Given the description of an element on the screen output the (x, y) to click on. 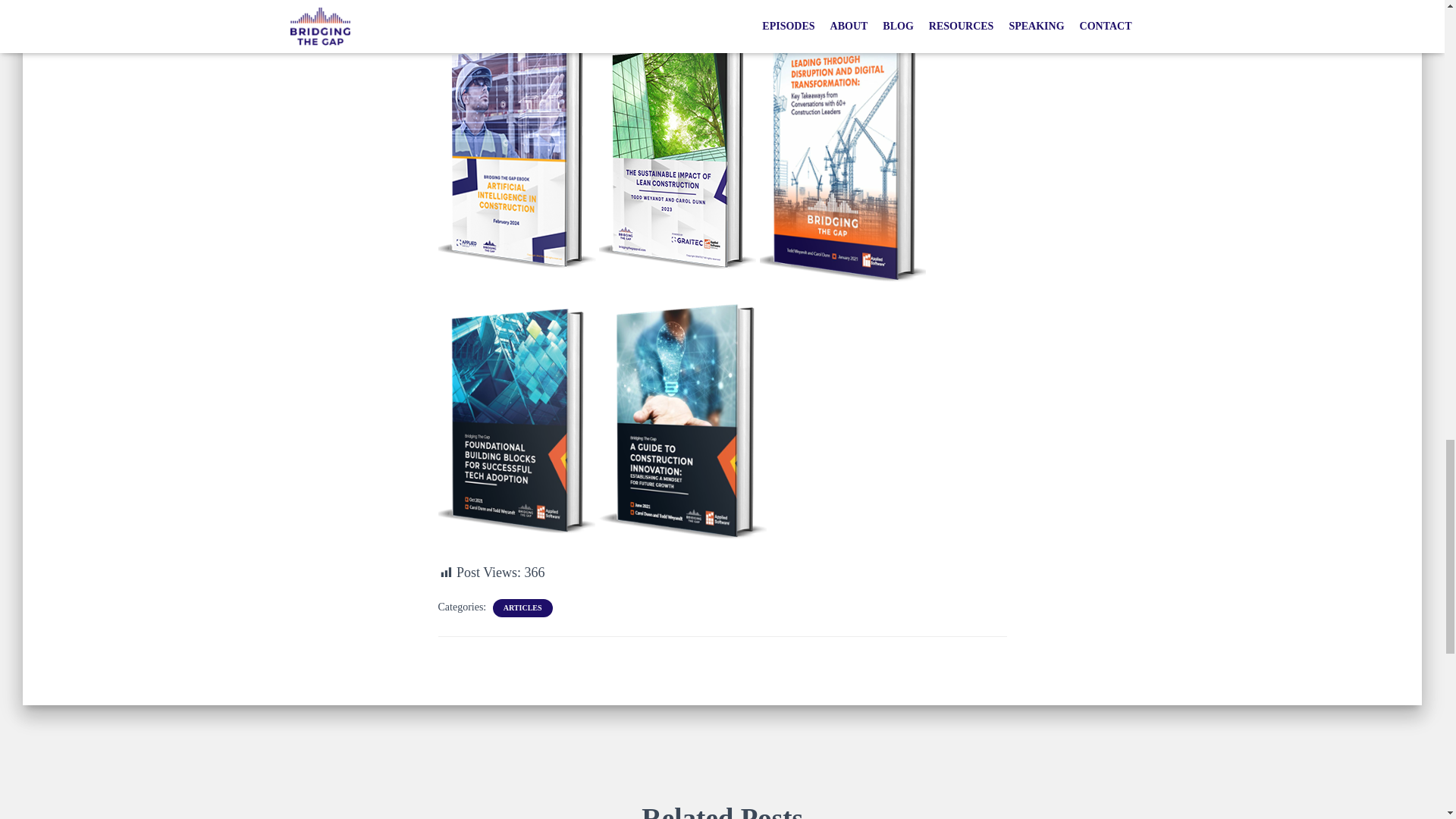
ARTICLES (522, 607)
